Given the description of an element on the screen output the (x, y) to click on. 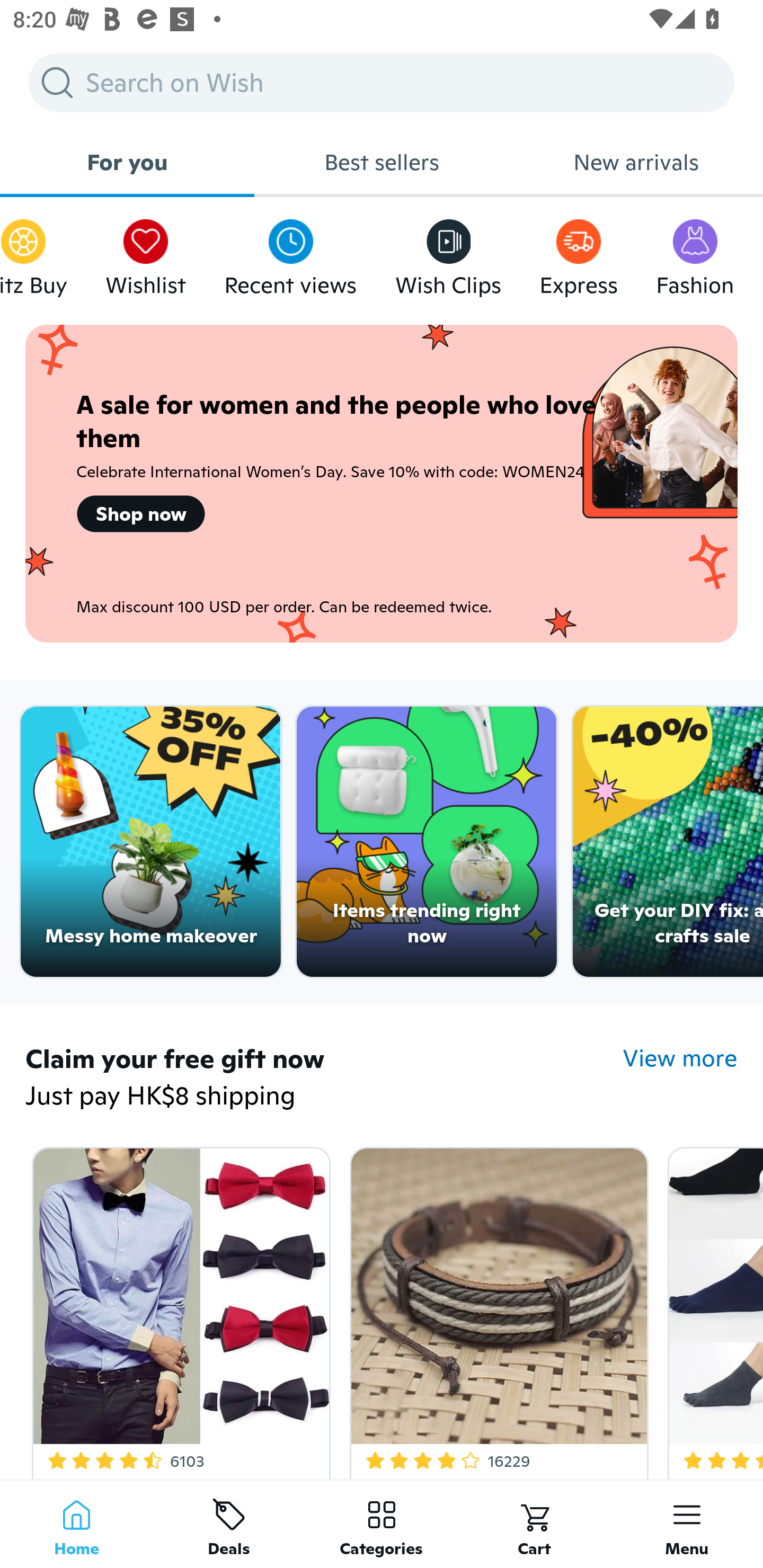
Search on Wish (381, 82)
For you (127, 161)
Best sellers (381, 161)
New arrivals (635, 161)
Blitz Buy (33, 252)
Wishlist (145, 252)
Recent views (290, 252)
Wish Clips (448, 252)
Express (578, 252)
Fashion (695, 252)
Messy home makeover (150, 841)
Items trending right now (426, 841)
Get your DIY fix: arts & crafts sale (668, 841)
Claim your free gift now
Just pay HK$8 shipping (323, 1078)
View more (679, 1058)
4.4 Star Rating 6103 Free (177, 1308)
3.8 Star Rating 16229 Free (495, 1308)
Home (76, 1523)
Deals (228, 1523)
Categories (381, 1523)
Cart (533, 1523)
Menu (686, 1523)
